Given the description of an element on the screen output the (x, y) to click on. 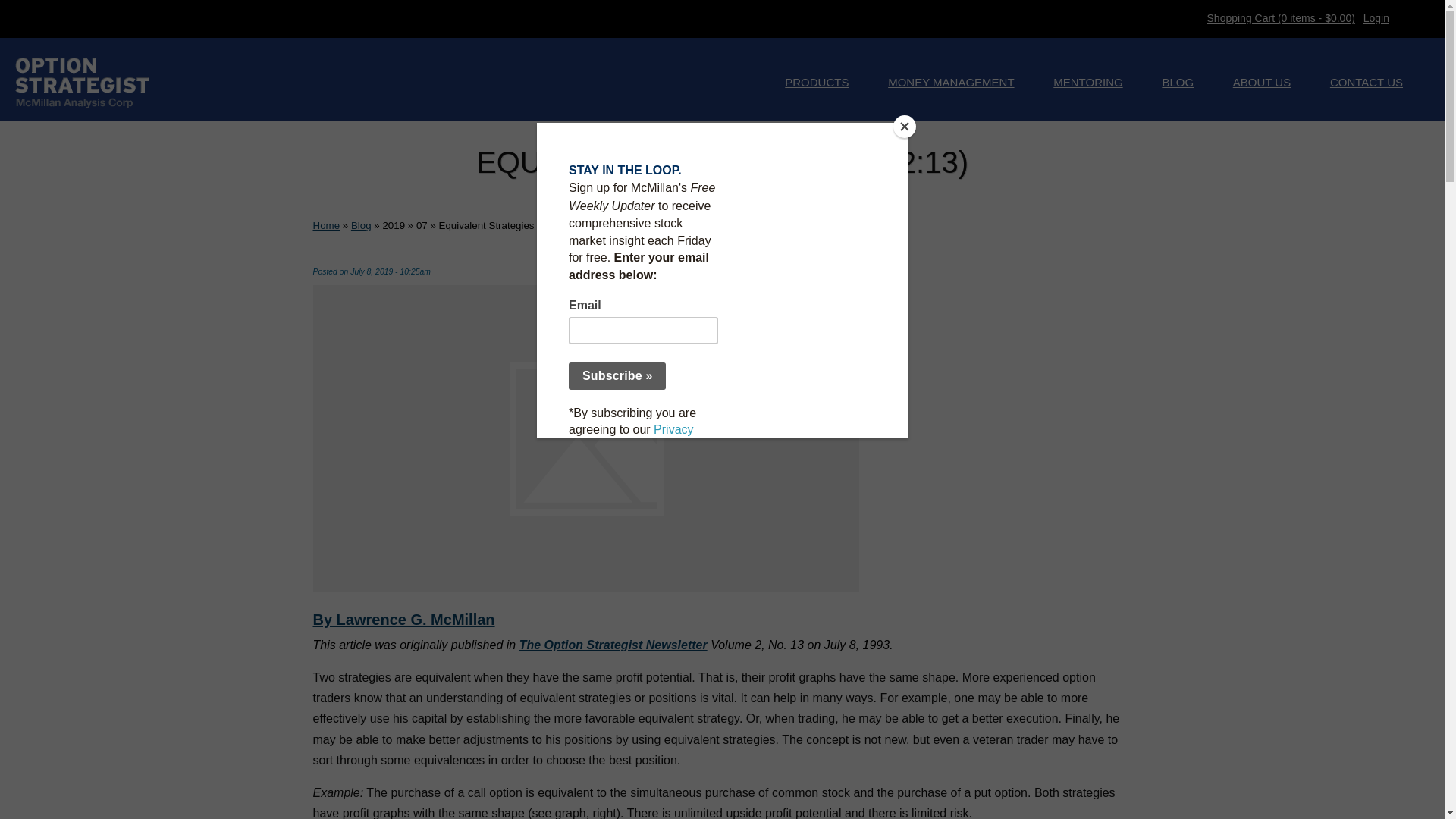
BLOG (1177, 83)
About Us (1262, 83)
Home (82, 82)
MENTORING (1087, 83)
PRODUCTS (816, 83)
Money Management (951, 83)
By Lawrence G. McMillan (404, 619)
MONEY MANAGEMENT (951, 83)
Login (1375, 18)
Home (326, 225)
CONTACT US (1366, 83)
Contact Us (1366, 83)
ABOUT US (1262, 83)
See Your Account and Purchases (1375, 18)
Blog (360, 225)
